Given the description of an element on the screen output the (x, y) to click on. 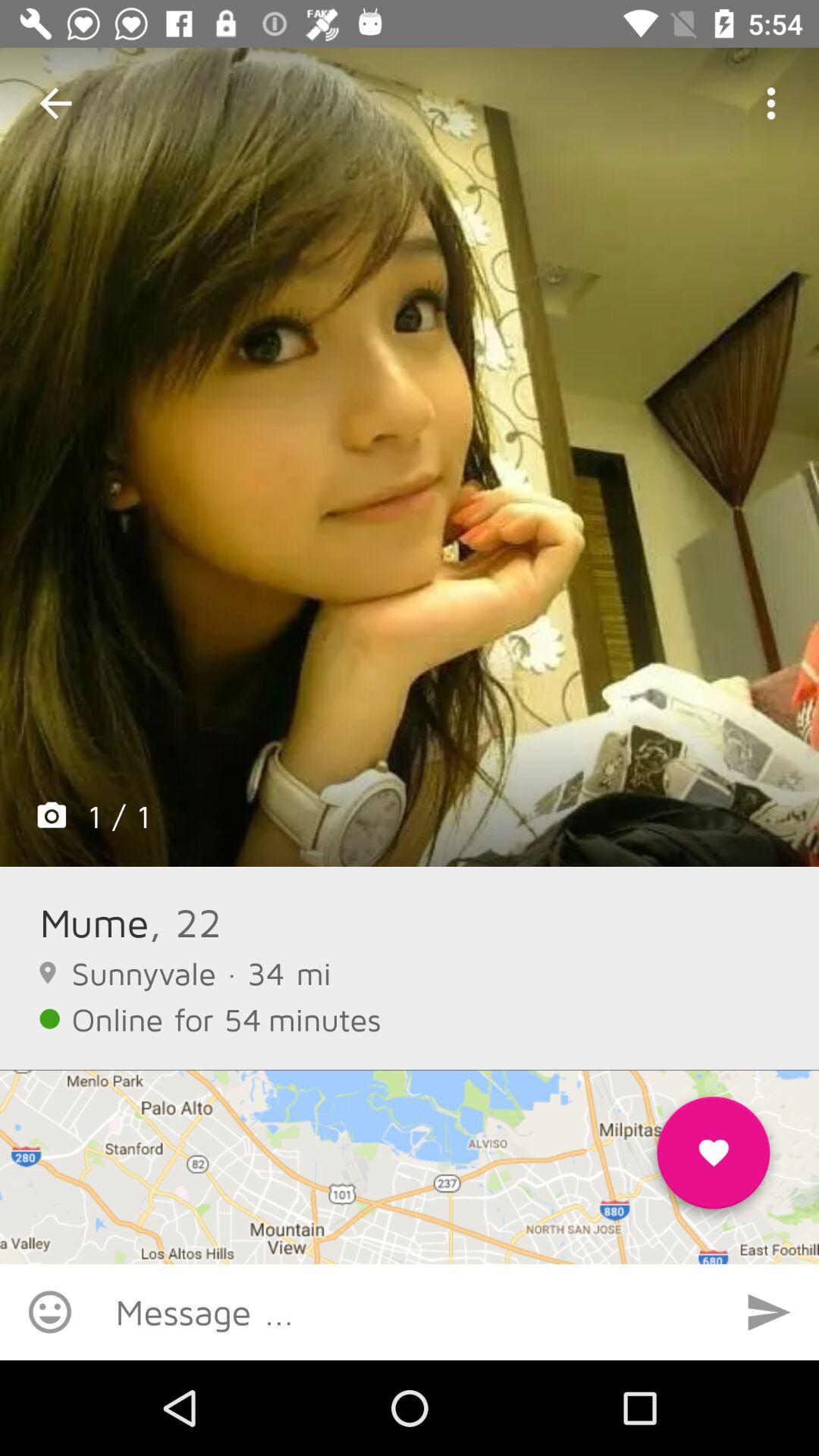
switch autoplay option (769, 1312)
